Given the description of an element on the screen output the (x, y) to click on. 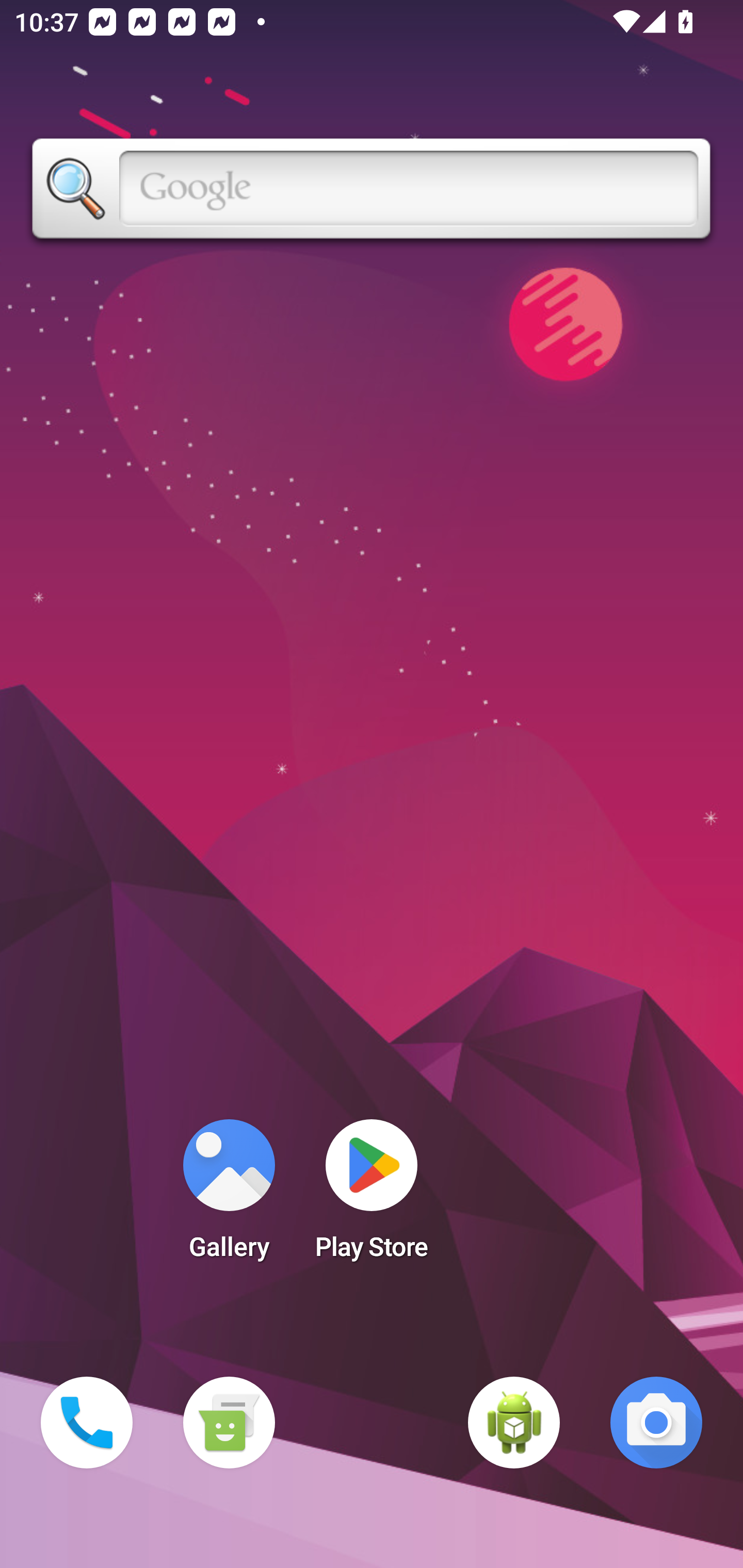
Gallery (228, 1195)
Play Store (371, 1195)
Phone (86, 1422)
Messaging (228, 1422)
WebView Browser Tester (513, 1422)
Camera (656, 1422)
